Given the description of an element on the screen output the (x, y) to click on. 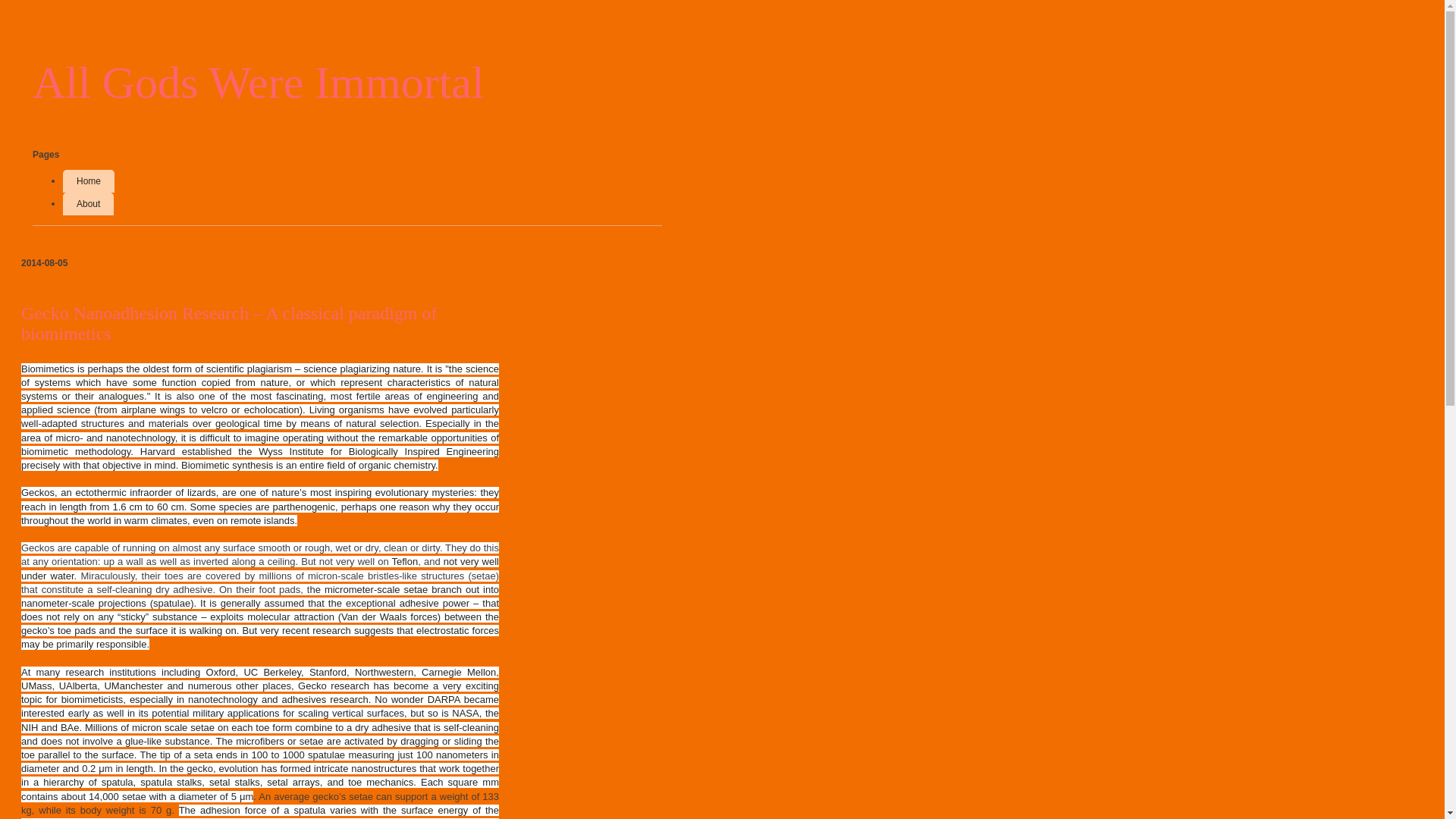
NIH (29, 727)
electrostatic forces (457, 630)
setae (416, 589)
over geological time (237, 423)
UMass (35, 685)
NASA (465, 713)
UC Berkeley (272, 672)
UAlberta (78, 685)
not very well under water (260, 568)
